Given the description of an element on the screen output the (x, y) to click on. 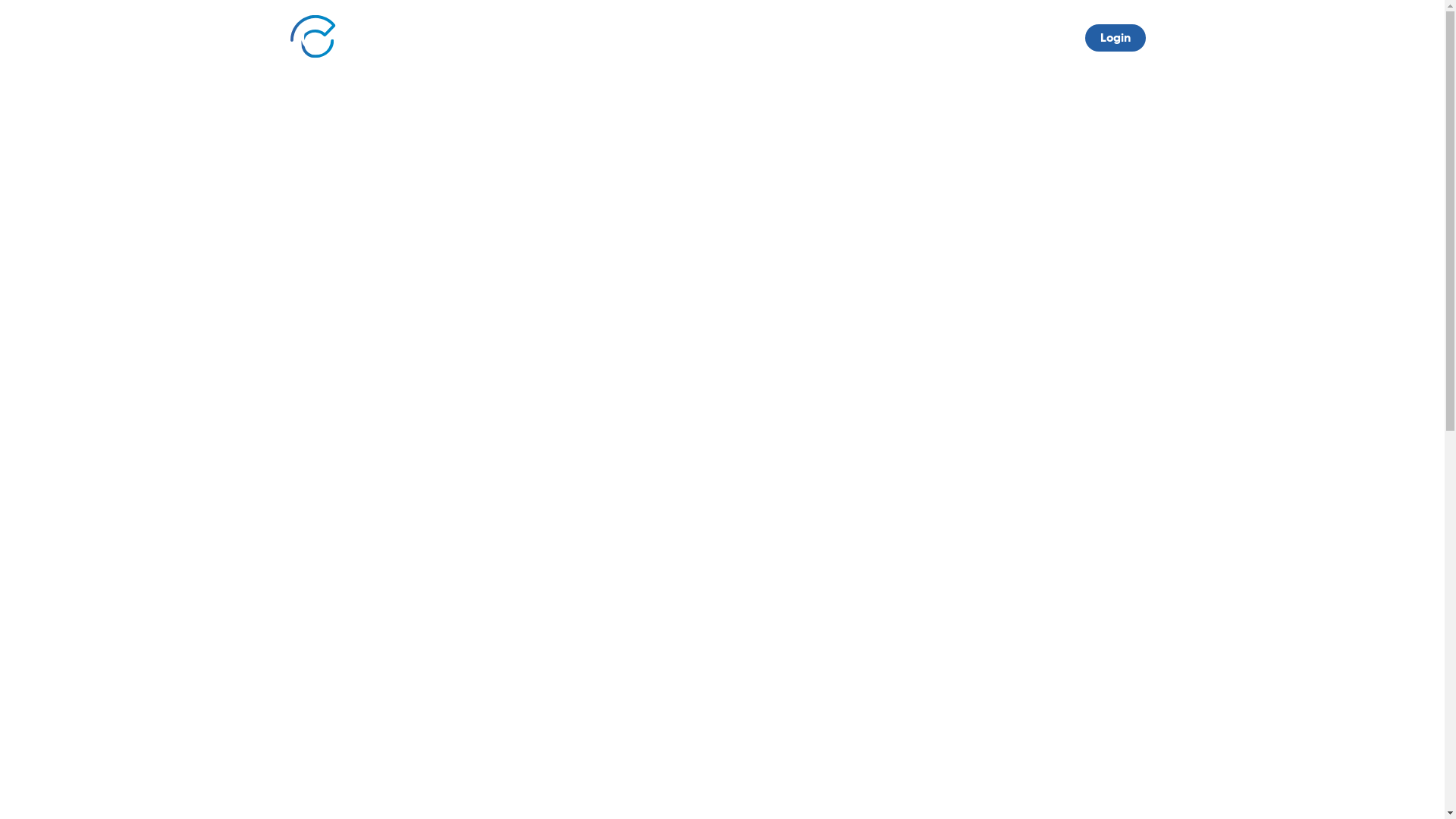
Services Element type: text (845, 41)
About Element type: text (778, 41)
Careers Element type: text (967, 41)
Contact Element type: text (1038, 41)
Login Element type: text (1114, 37)
Blog Element type: text (906, 41)
